Given the description of an element on the screen output the (x, y) to click on. 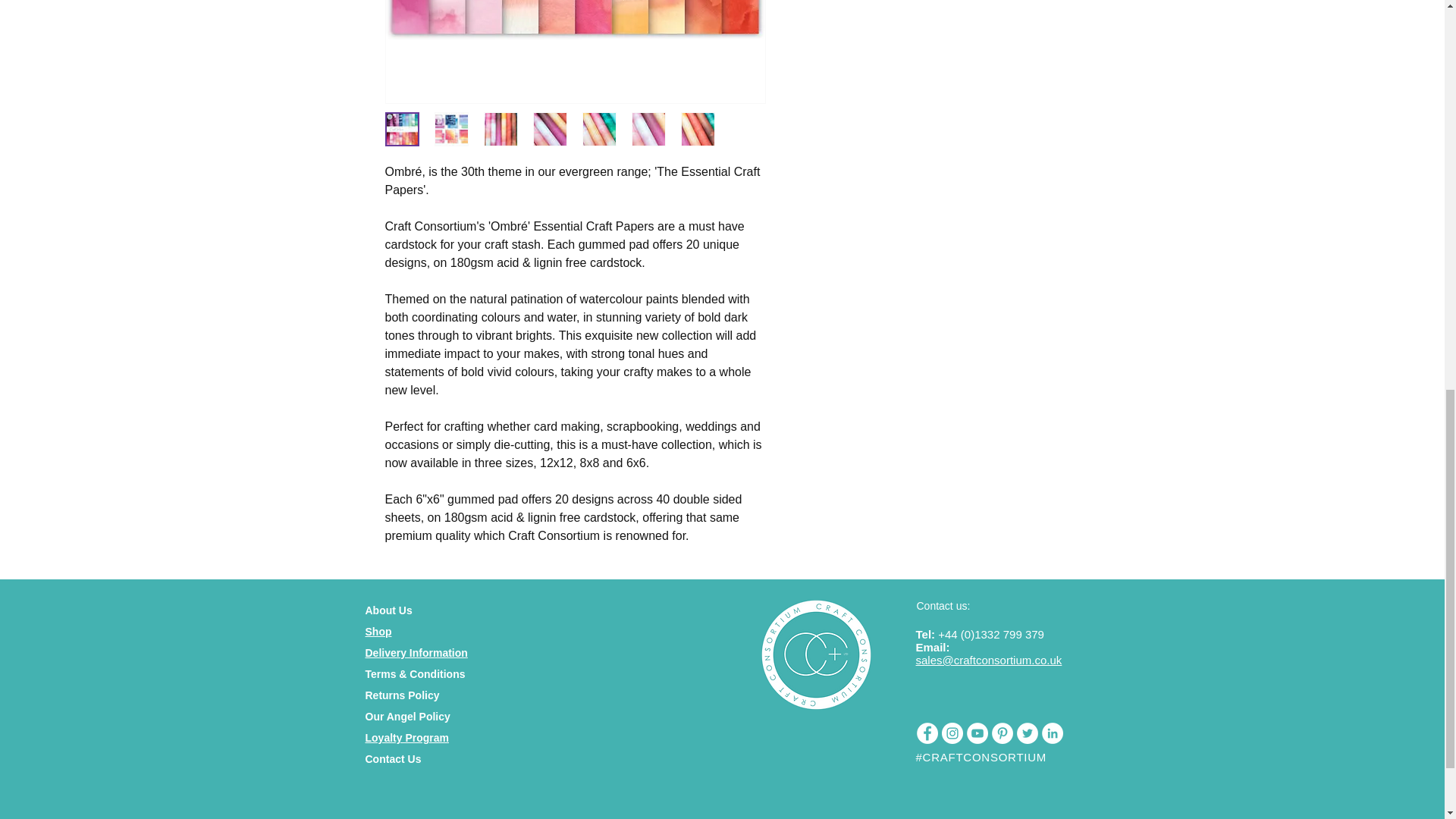
Returns Policy (402, 695)
About Us (388, 610)
Contact (384, 758)
Loyalty Program (406, 737)
Delivery Information (416, 653)
Our Angel Policy (407, 716)
Shop (378, 631)
